Given the description of an element on the screen output the (x, y) to click on. 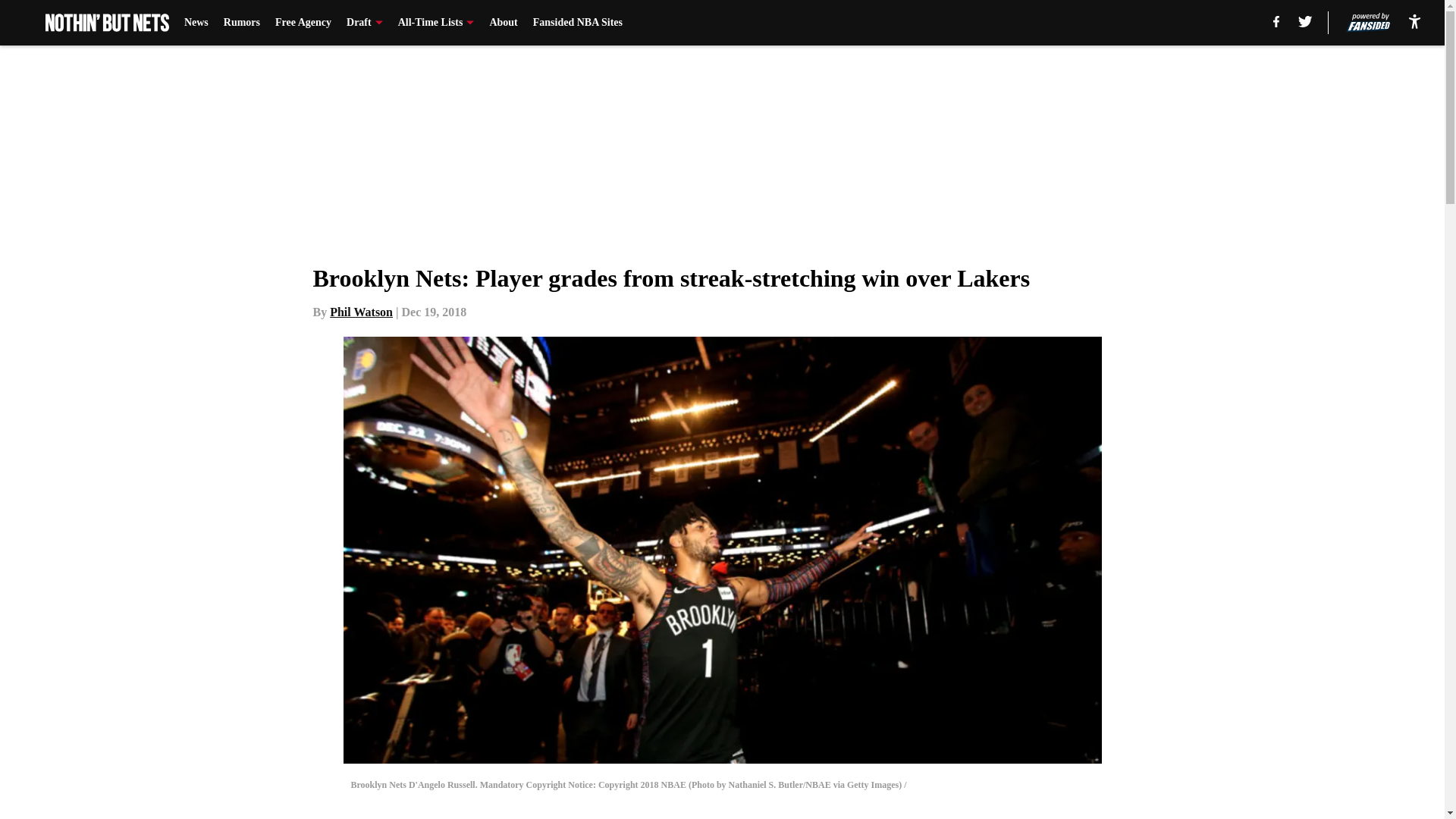
Phil Watson (361, 311)
News (196, 22)
Free Agency (303, 22)
Fansided NBA Sites (577, 22)
Rumors (242, 22)
About (502, 22)
